Given the description of an element on the screen output the (x, y) to click on. 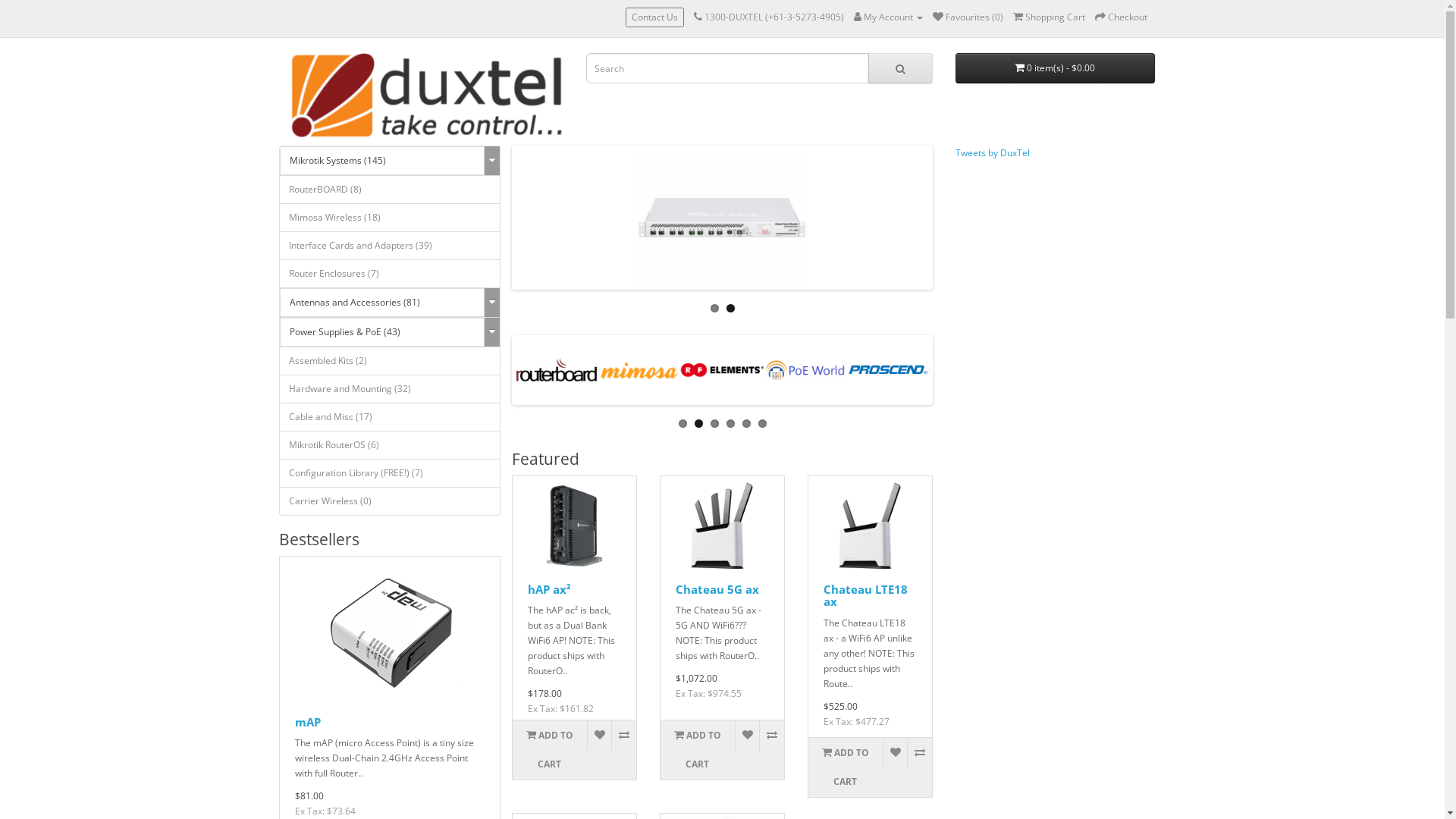
Router Enclosures (7) Element type: text (390, 273)
Mikrotik RouterOS (6) Element type: text (390, 444)
ADD TO CART Element type: text (549, 749)
Carrier Wireless (0) Element type: text (390, 500)
ADD TO CART Element type: text (697, 749)
0 item(s) - $0.00 Element type: text (1054, 68)
Chateau LTE18 ax Element type: hover (869, 525)
Mikrotik Systems (145) Element type: text (381, 160)
Chateau 5G ax Element type: text (717, 588)
Chateau 5G ax Element type: hover (722, 525)
Contact Us Element type: text (653, 17)
Favourites (0) Element type: text (967, 16)
DuxTel Online Store Element type: hover (425, 95)
Hardware and Mounting (32) Element type: text (390, 388)
Power Supplies & PoE (43) Element type: text (381, 331)
Assembled Kits (2) Element type: text (390, 360)
Configuration Library (FREE!) (7) Element type: text (390, 472)
Checkout Element type: text (1121, 16)
Cable and Misc (17) Element type: text (390, 416)
RouterBOARD (8) Element type: text (390, 189)
mAP Element type: text (307, 721)
Mimosa Wireless (18) Element type: text (390, 217)
mAP Element type: hover (389, 632)
Chateau LTE18 ax Element type: text (865, 595)
Tweets by DuxTel Element type: text (992, 152)
ADD TO CART Element type: text (845, 767)
Shopping Cart Element type: text (1049, 16)
Interface Cards and Adapters (39) Element type: text (390, 245)
Antennas and Accessories (81) Element type: text (381, 302)
My Account Element type: text (887, 16)
